Given the description of an element on the screen output the (x, y) to click on. 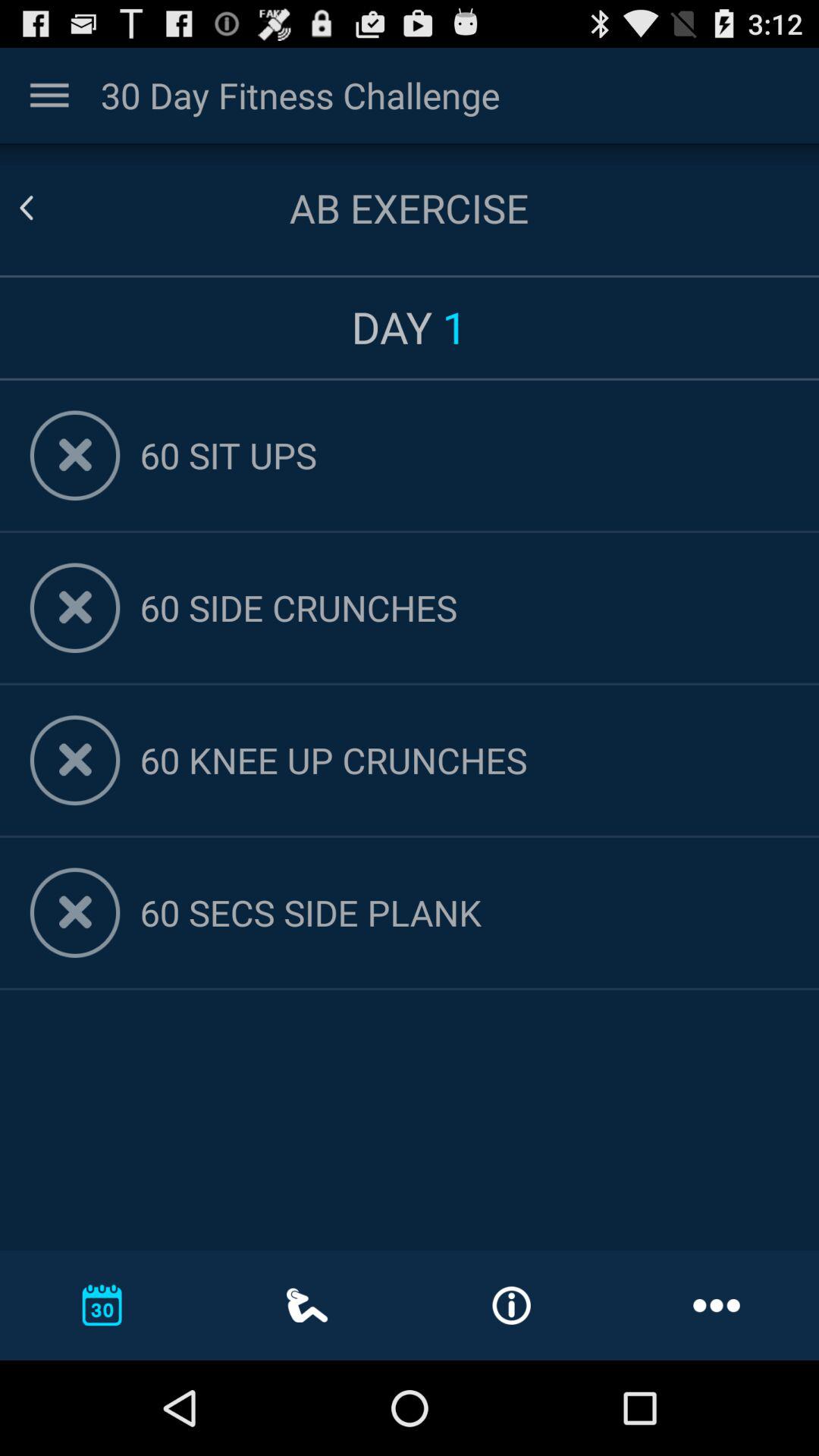
open the 60 sit ups item (463, 455)
